Given the description of an element on the screen output the (x, y) to click on. 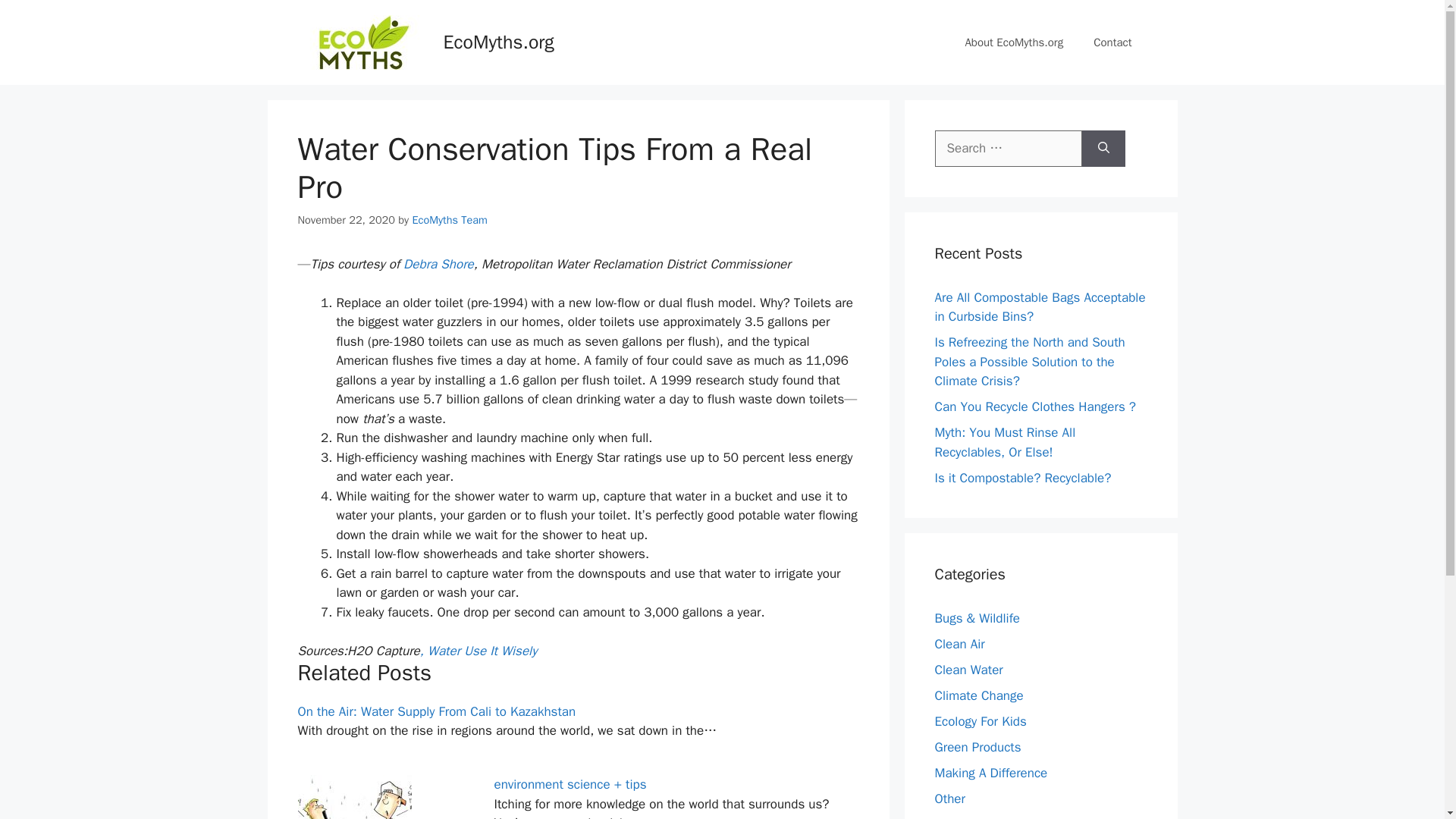
Clean Water (968, 669)
, Water Use It Wisely (478, 650)
Search for: (1007, 148)
Can You Recycle Clothes Hangers ? (1034, 406)
On the Air: Water Supply From Cali to Kazakhstan (436, 711)
Contact (1112, 42)
Climate Change (978, 695)
EcoMyths.org (363, 42)
EcoMyths Team (449, 219)
Green Products (977, 747)
Myth: You Must Rinse All Recyclables, Or Else! (1004, 442)
EcoMyths.org (497, 42)
EcoMyths.org (363, 41)
About EcoMyths.org (1013, 42)
